Given the description of an element on the screen output the (x, y) to click on. 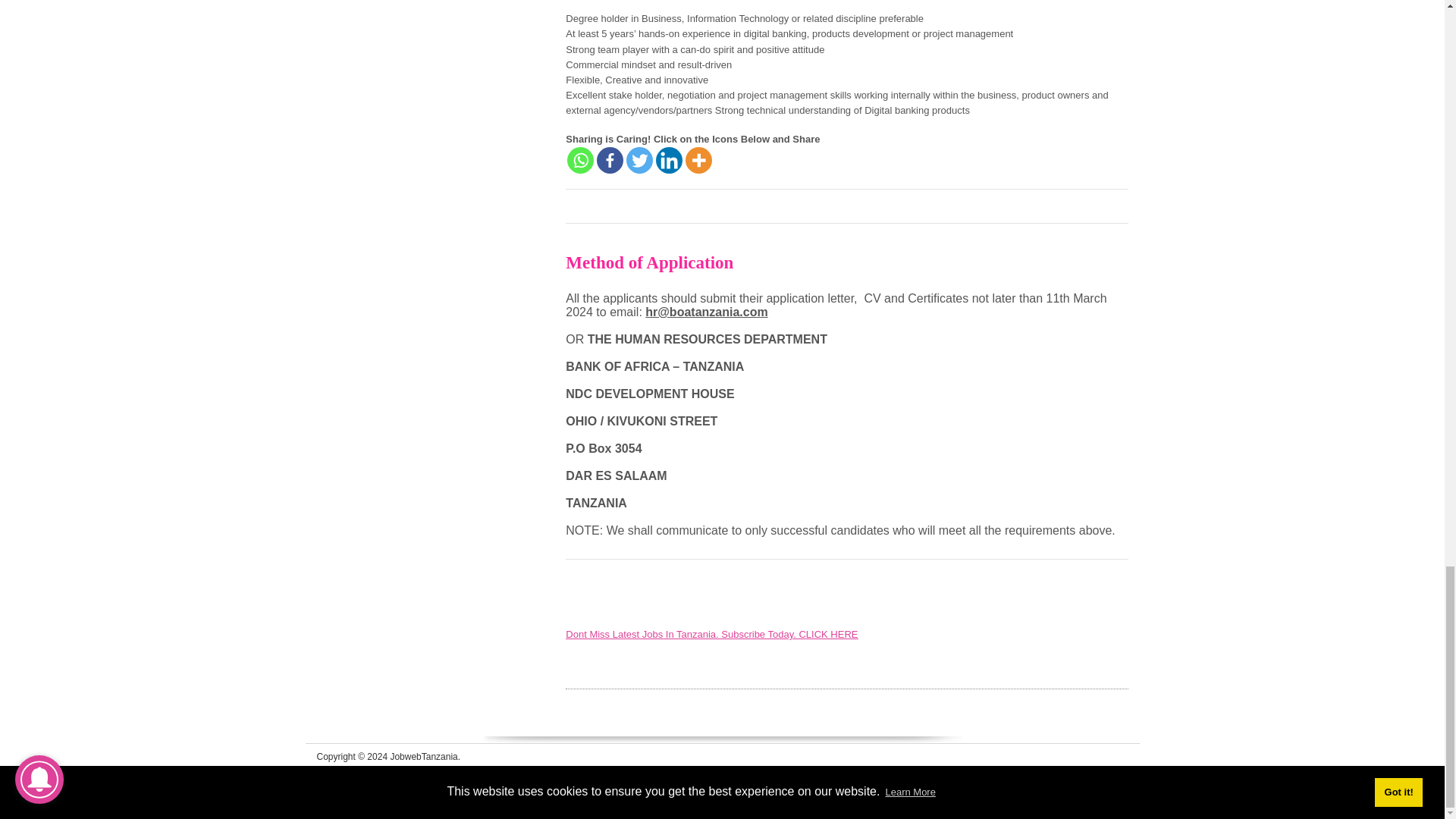
More (698, 160)
Twitter (639, 160)
Whatsapp (580, 160)
Linkedin (669, 160)
Facebook (609, 160)
